Given the description of an element on the screen output the (x, y) to click on. 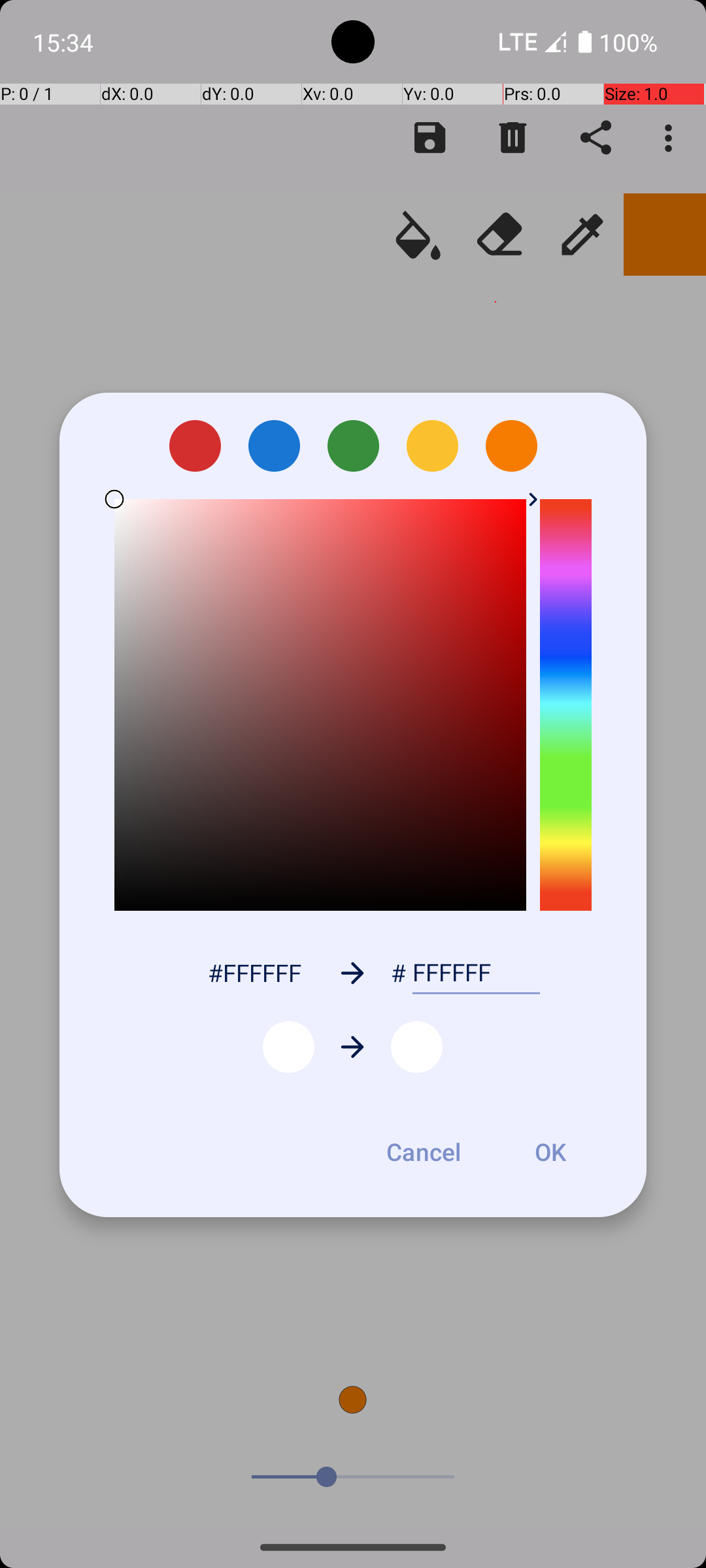
#FFFFFF Element type: android.widget.TextView (254, 972)
FFFFFF Element type: android.widget.EditText (475, 972)
